Given the description of an element on the screen output the (x, y) to click on. 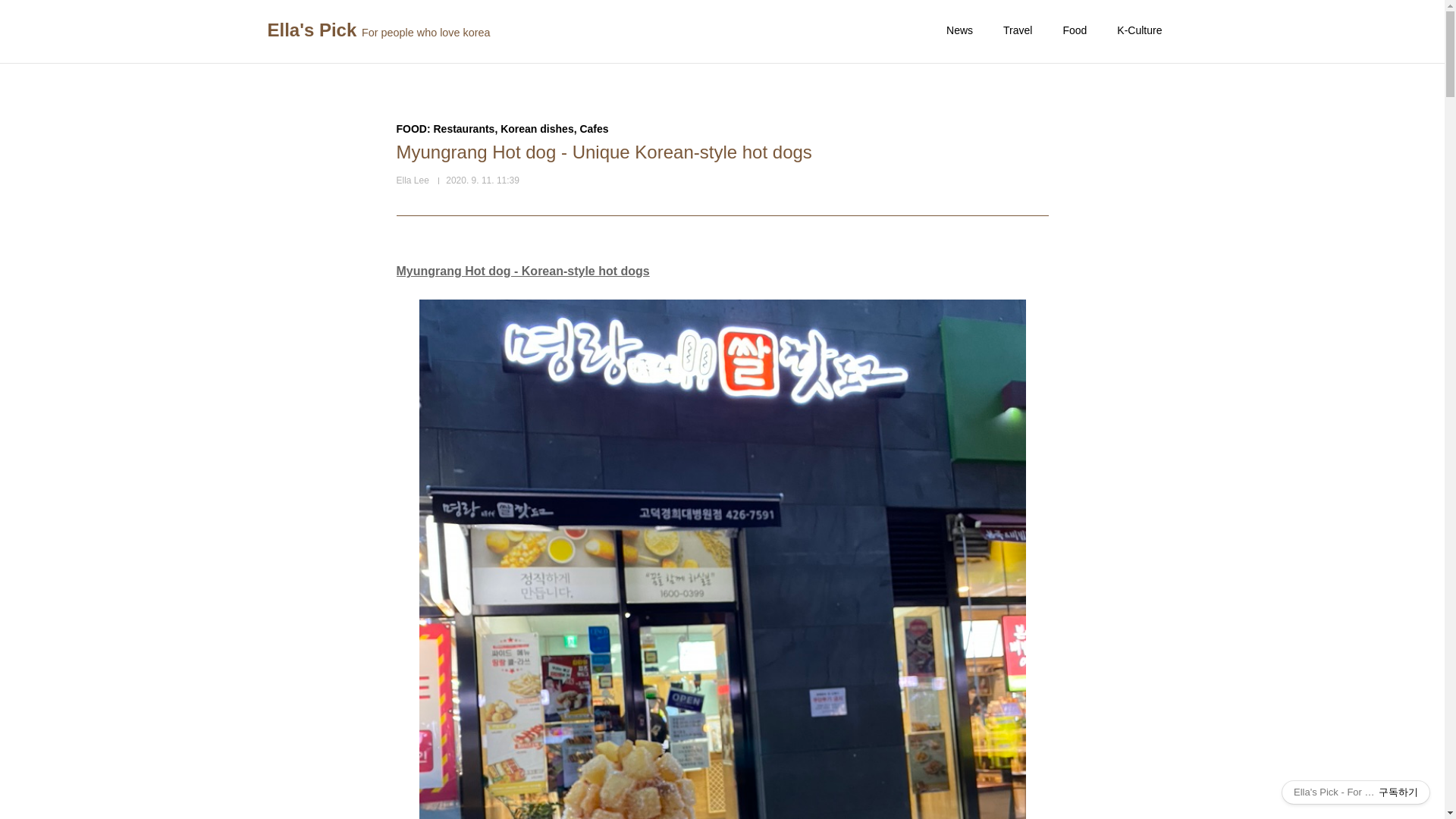
News (959, 29)
Food (1074, 29)
Ella's Pick For people who love korea (377, 31)
Travel (1017, 29)
K-Culture (1138, 29)
